Given the description of an element on the screen output the (x, y) to click on. 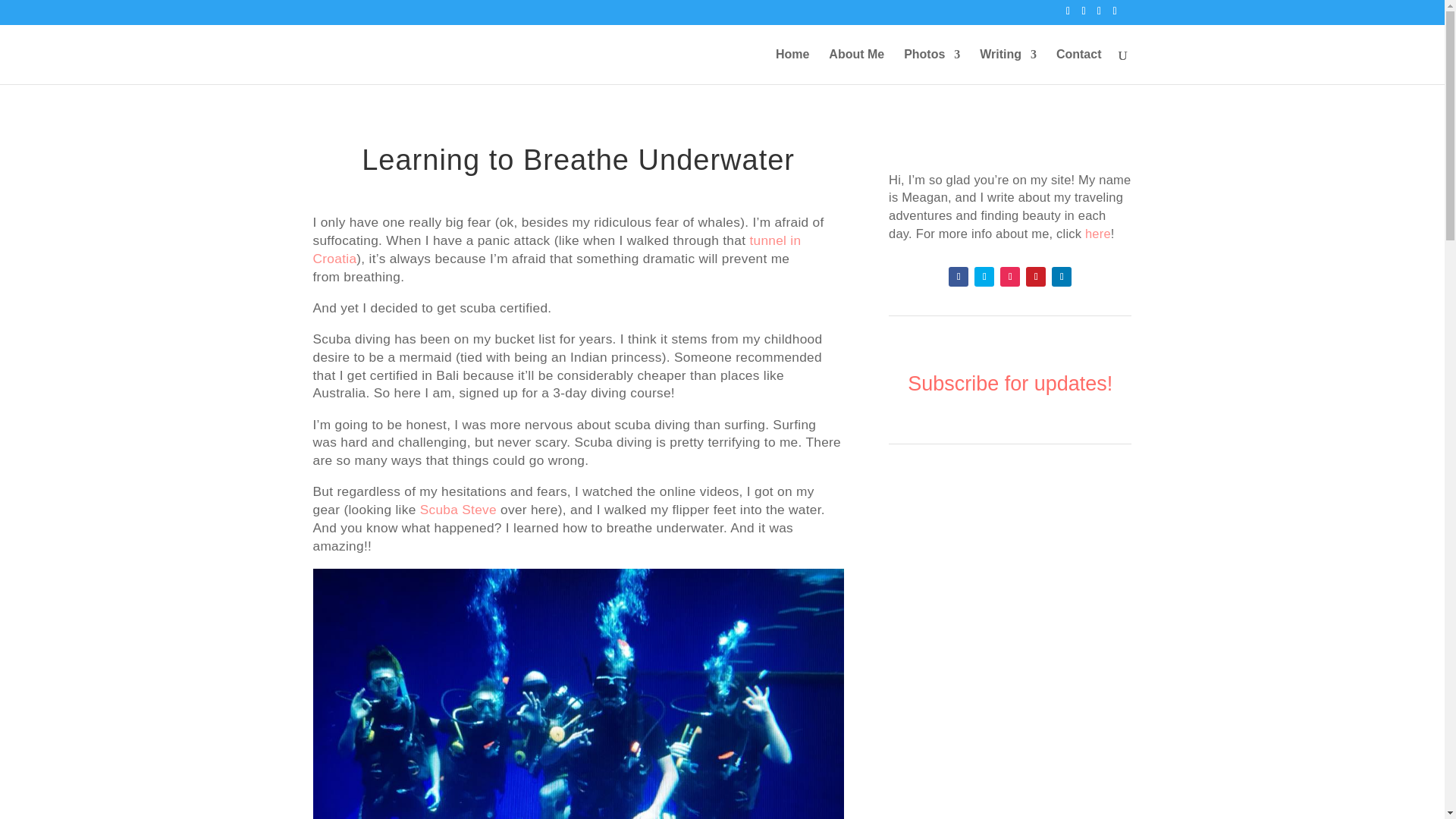
Contact (1079, 65)
Writing (1007, 65)
Follow on Facebook (958, 276)
here (1097, 233)
Scuba Steve (458, 509)
Follow on Instagram (1010, 276)
Home (792, 65)
tunnel in Croatia (556, 249)
Photos (931, 65)
About Me (855, 65)
Follow on LinkedIn (1061, 276)
Follow on X (984, 276)
Follow on Pinterest (1035, 276)
